Given the description of an element on the screen output the (x, y) to click on. 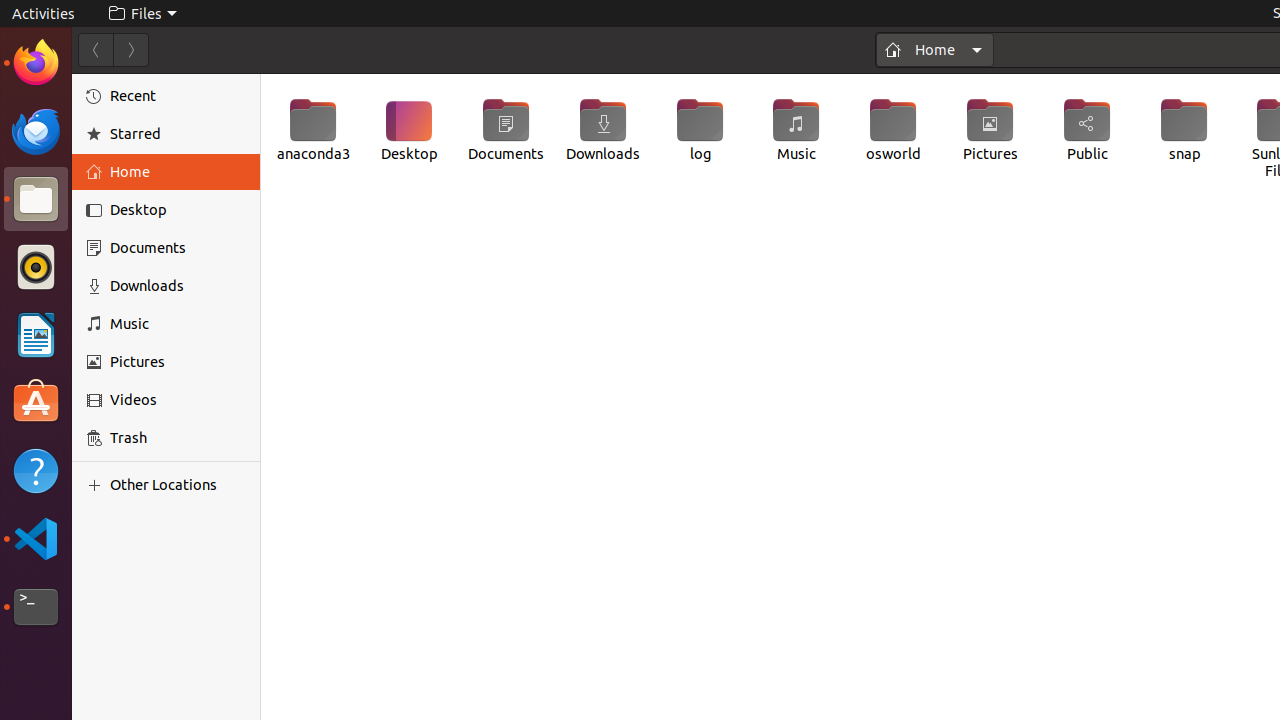
Downloads Element type: label (178, 286)
Desktop Element type: canvas (409, 130)
anaconda3 Element type: canvas (312, 130)
